Given the description of an element on the screen output the (x, y) to click on. 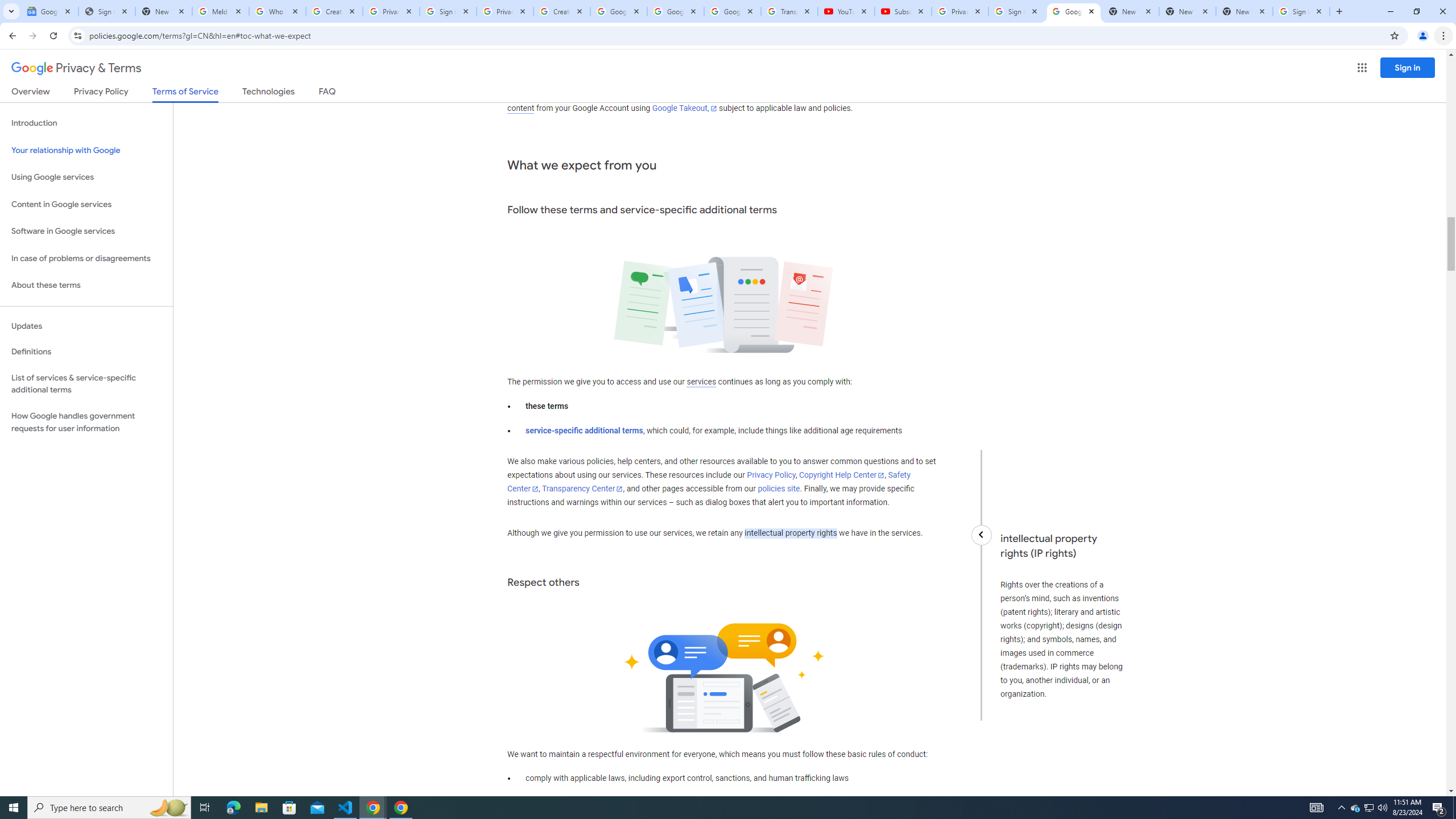
service-specific additional terms (584, 430)
Sign in - Google Accounts (1015, 11)
Sign in - Google Accounts (1301, 11)
Safety Center (708, 481)
New Tab (1244, 11)
Sign in - Google Accounts (447, 11)
